Given the description of an element on the screen output the (x, y) to click on. 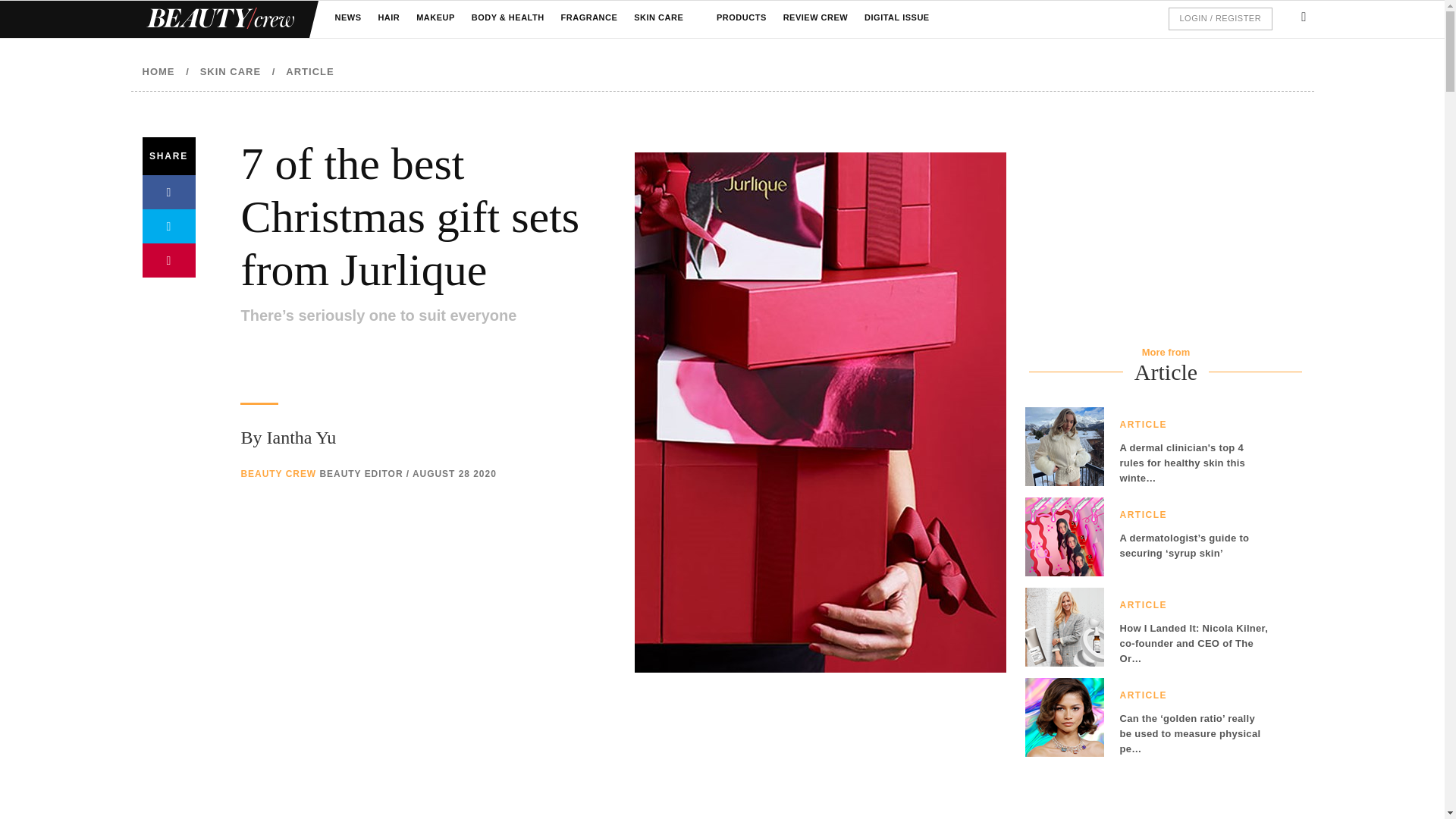
HAIR (387, 18)
NEWS (347, 18)
3rd party ad content (1138, 793)
3rd party ad content (1149, 239)
MAKEUP (435, 18)
3rd party ad content (623, 763)
Home (218, 18)
